Given the description of an element on the screen output the (x, y) to click on. 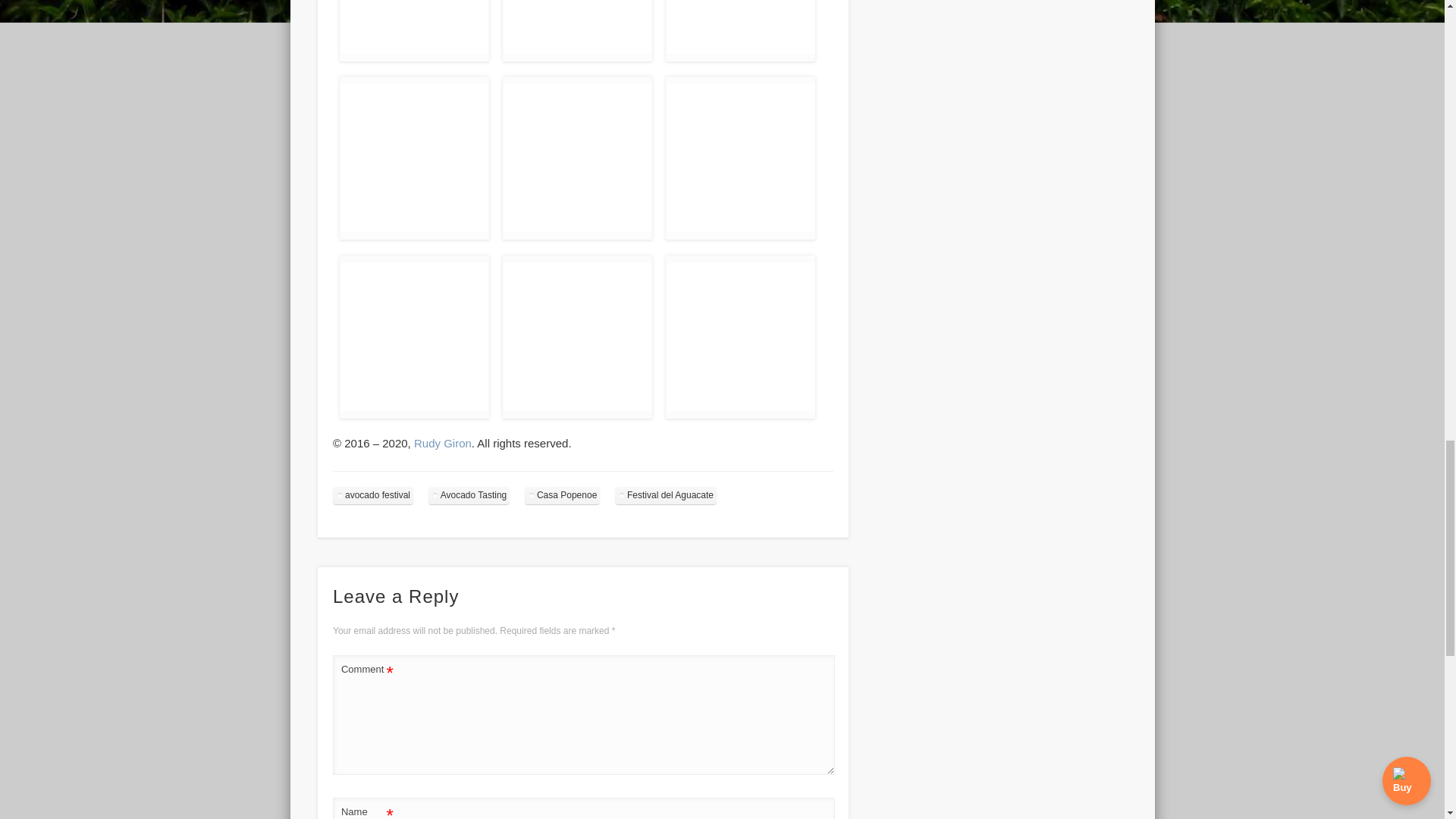
avocado festival (373, 495)
Rudy Giron (442, 442)
Festival del Aguacate (665, 495)
Casa Popenoe (561, 495)
Avocado Tasting (469, 495)
